Given the description of an element on the screen output the (x, y) to click on. 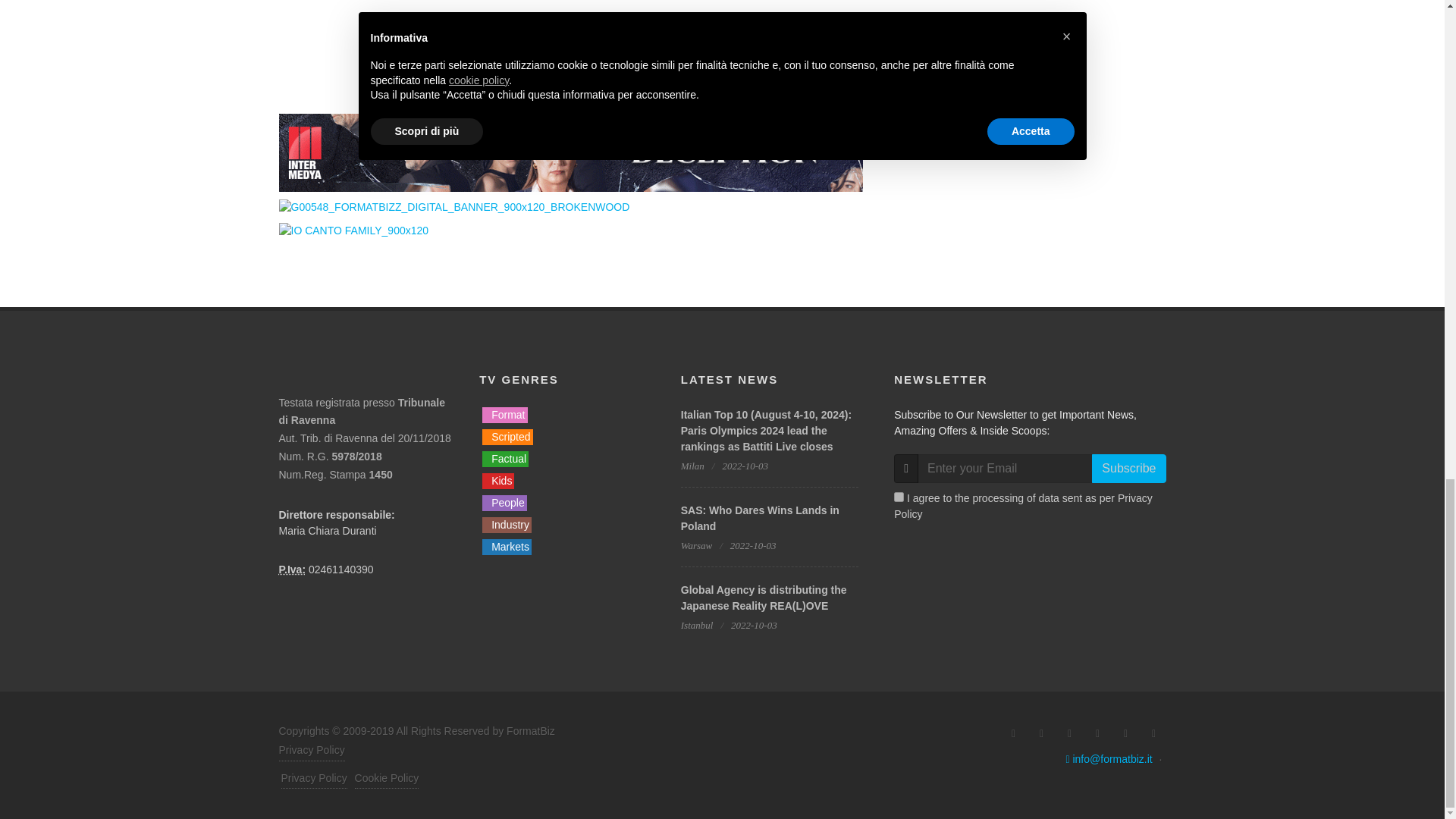
People (504, 503)
Format (504, 415)
Industry (506, 524)
Privacy Policy  (313, 778)
Scripted (506, 437)
Kids (497, 480)
P.Iva (292, 569)
Cookie Policy  (387, 778)
S (898, 497)
Factual (504, 458)
